Given the description of an element on the screen output the (x, y) to click on. 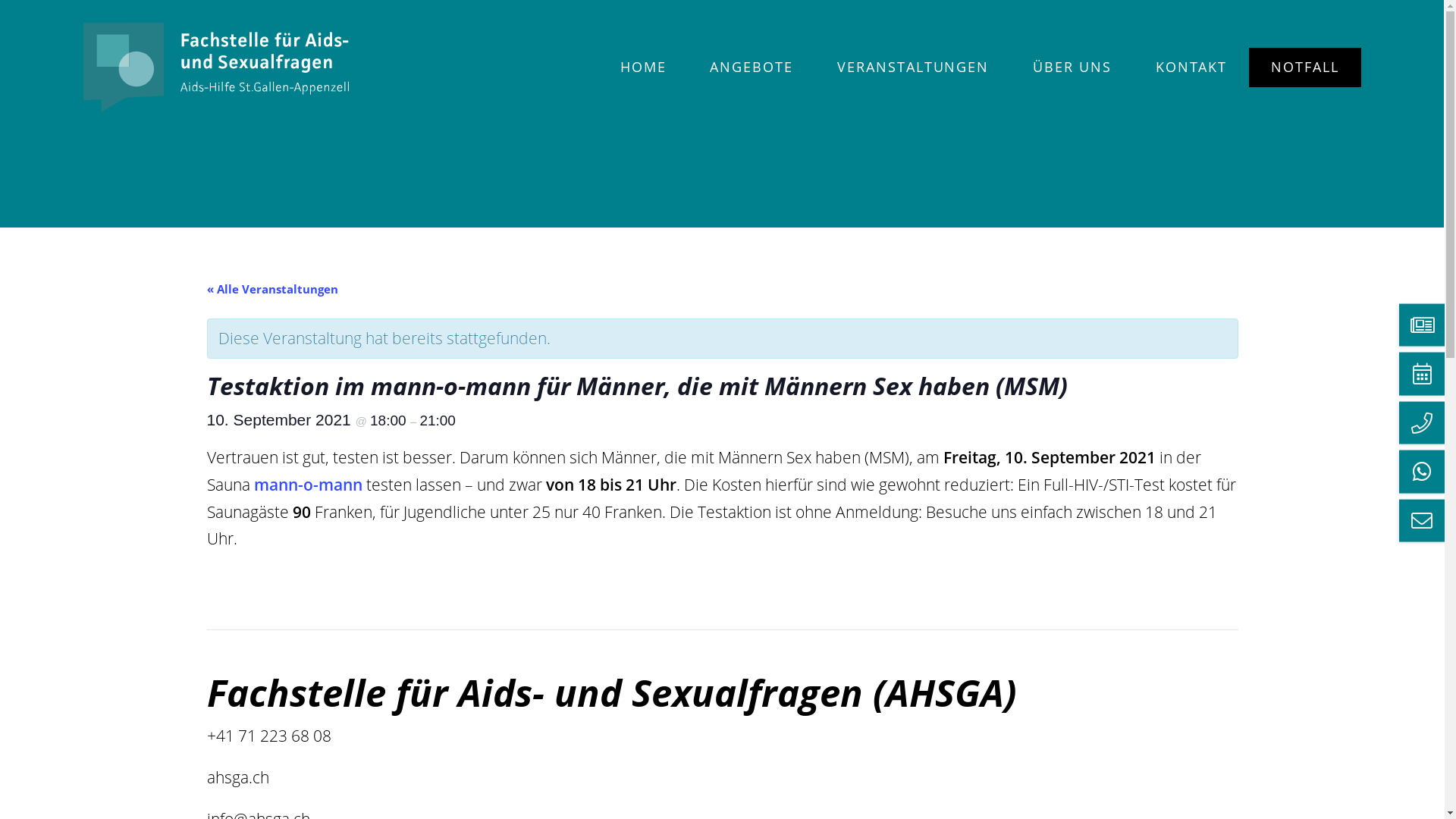
NOTFALL Element type: text (1304, 67)
ANGEBOTE Element type: text (751, 67)
VERANSTALTUNGEN Element type: text (912, 67)
KONTAKT Element type: text (1191, 67)
HOME Element type: text (643, 67)
mann-o-mann Element type: text (309, 484)
